Given the description of an element on the screen output the (x, y) to click on. 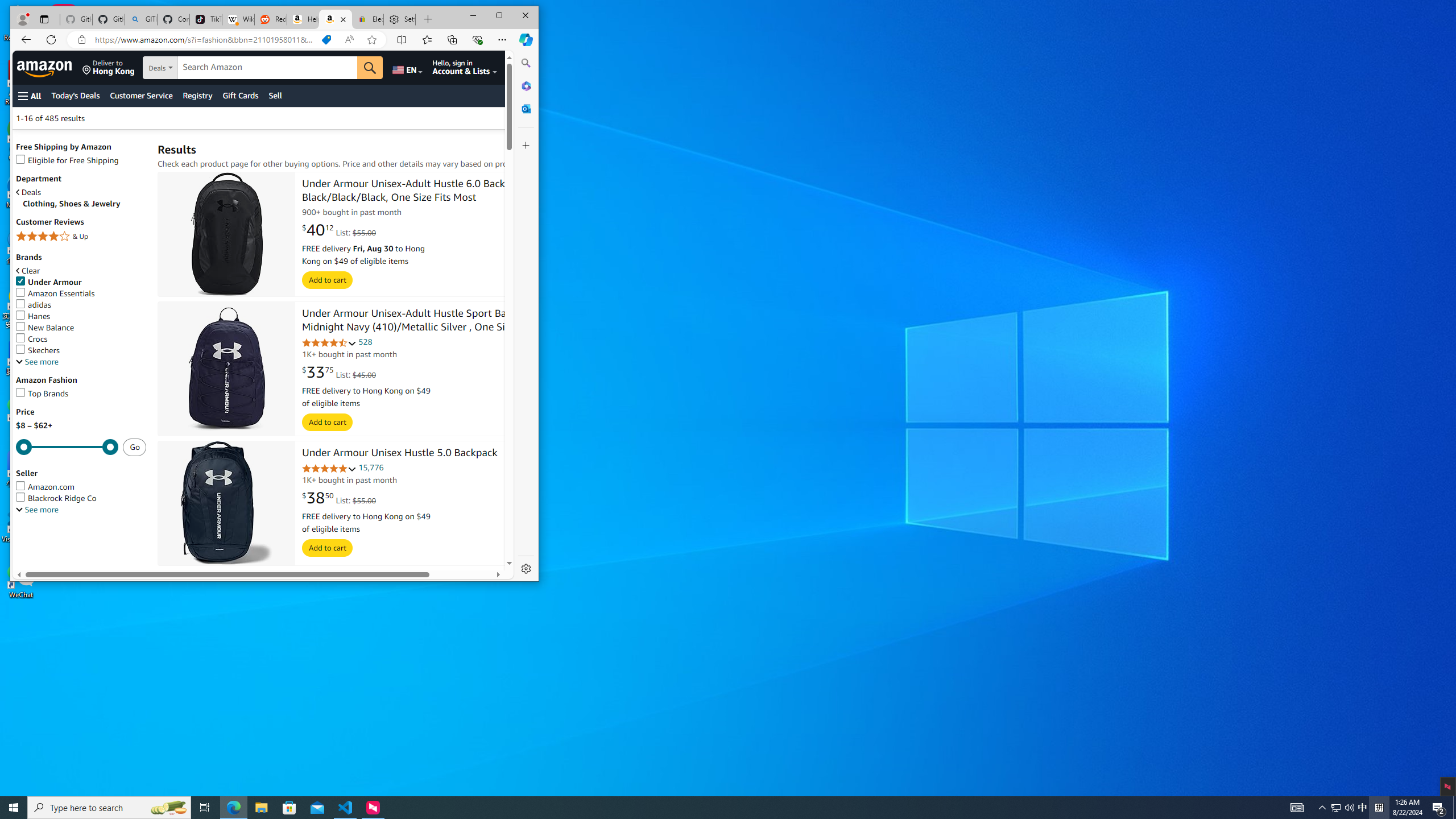
Notification Chevron (1322, 807)
See more, Brands (37, 361)
Open Menu (29, 95)
Registry (197, 95)
Tray Input Indicator - Chinese (Simplified, China) (1378, 807)
Clear (80, 271)
Amazon.com (45, 486)
